Given the description of an element on the screen output the (x, y) to click on. 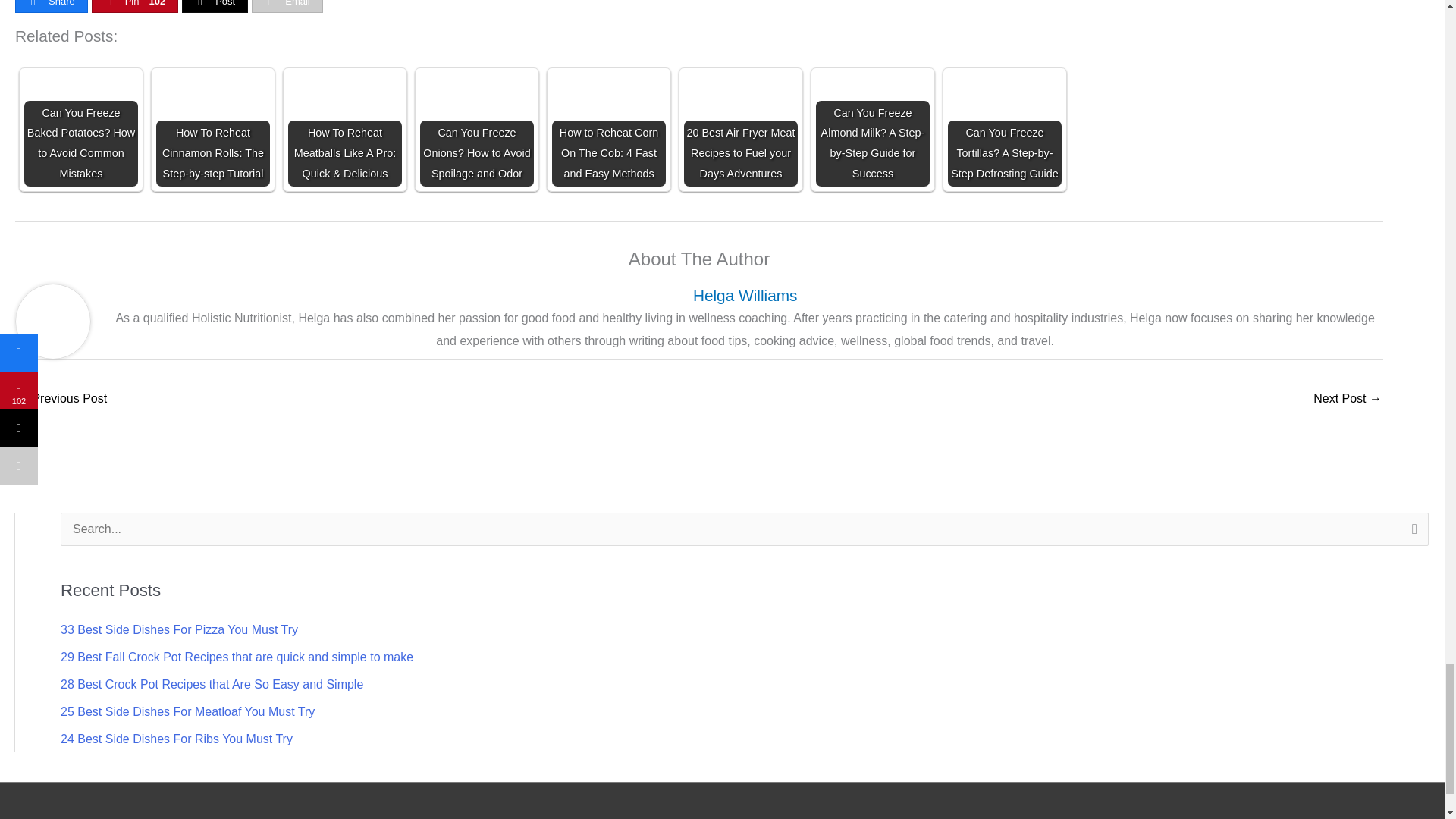
Can You Freeze Baked Potatoes? How to Avoid Common Mistakes (81, 129)
Can You Freeze Almond Milk? A Step-by-Step Guide for Success (872, 129)
Can You Freeze Apple Pie? How to Make It Last Longer (61, 399)
How to Reheat Corn On The Cob: 4 Fast and Easy Methods (608, 129)
Helga Williams (744, 295)
Can You Freeze Onions? How to Avoid Spoilage and Odor (477, 129)
Can You Freeze Baked Potatoes? How to Avoid Common Mistakes (81, 129)
Can You Freeze Onions? How to Avoid Spoilage and Odor (477, 129)
Pin102 (135, 6)
20 Best Air Fryer Meat Recipes to Fuel your Days Adventures (740, 129)
